Given the description of an element on the screen output the (x, y) to click on. 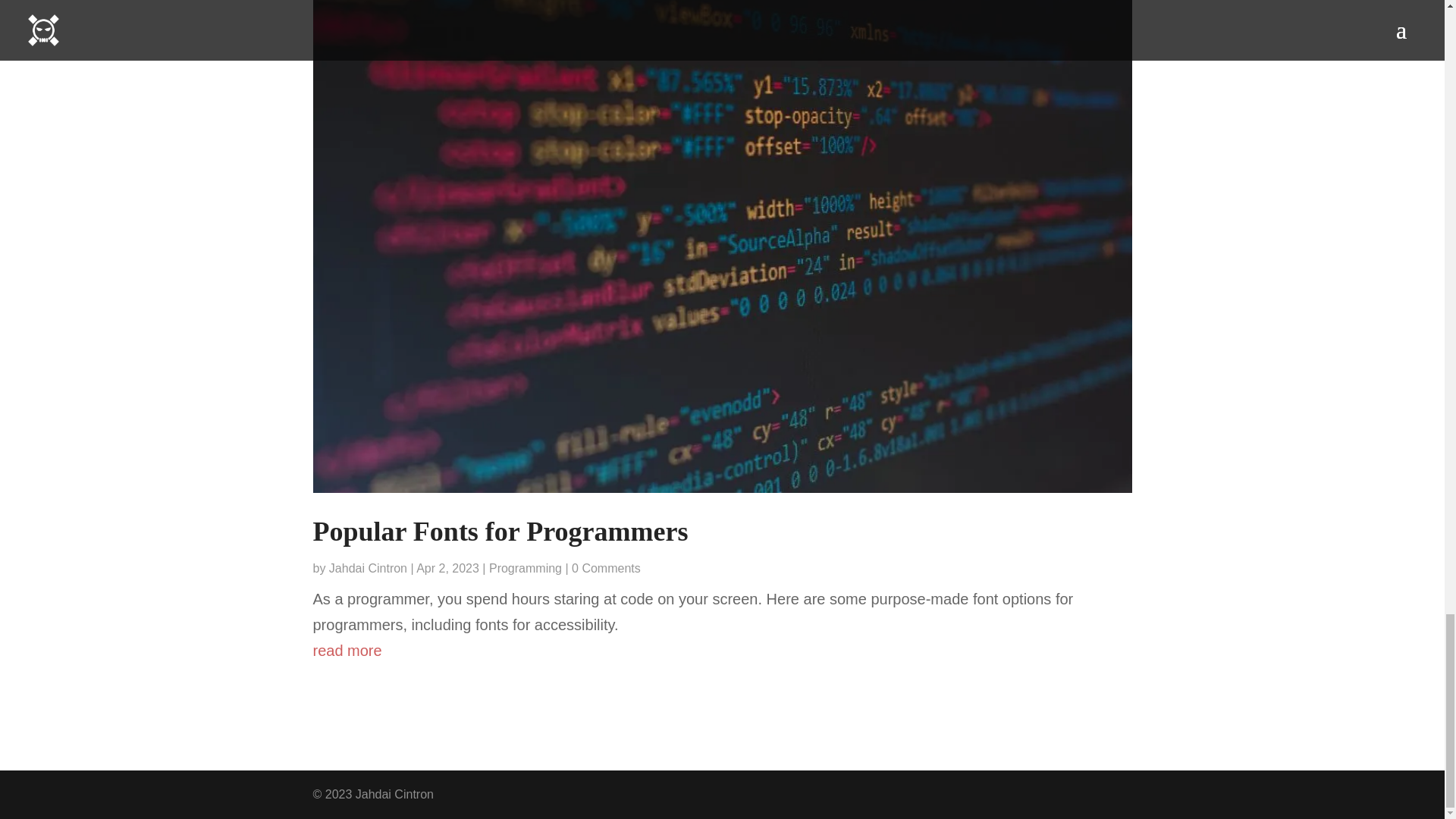
Popular Fonts for Programmers (500, 531)
Programming (525, 567)
Jahdai Cintron (368, 567)
read more (722, 650)
Posts by Jahdai Cintron (368, 567)
